Given the description of an element on the screen output the (x, y) to click on. 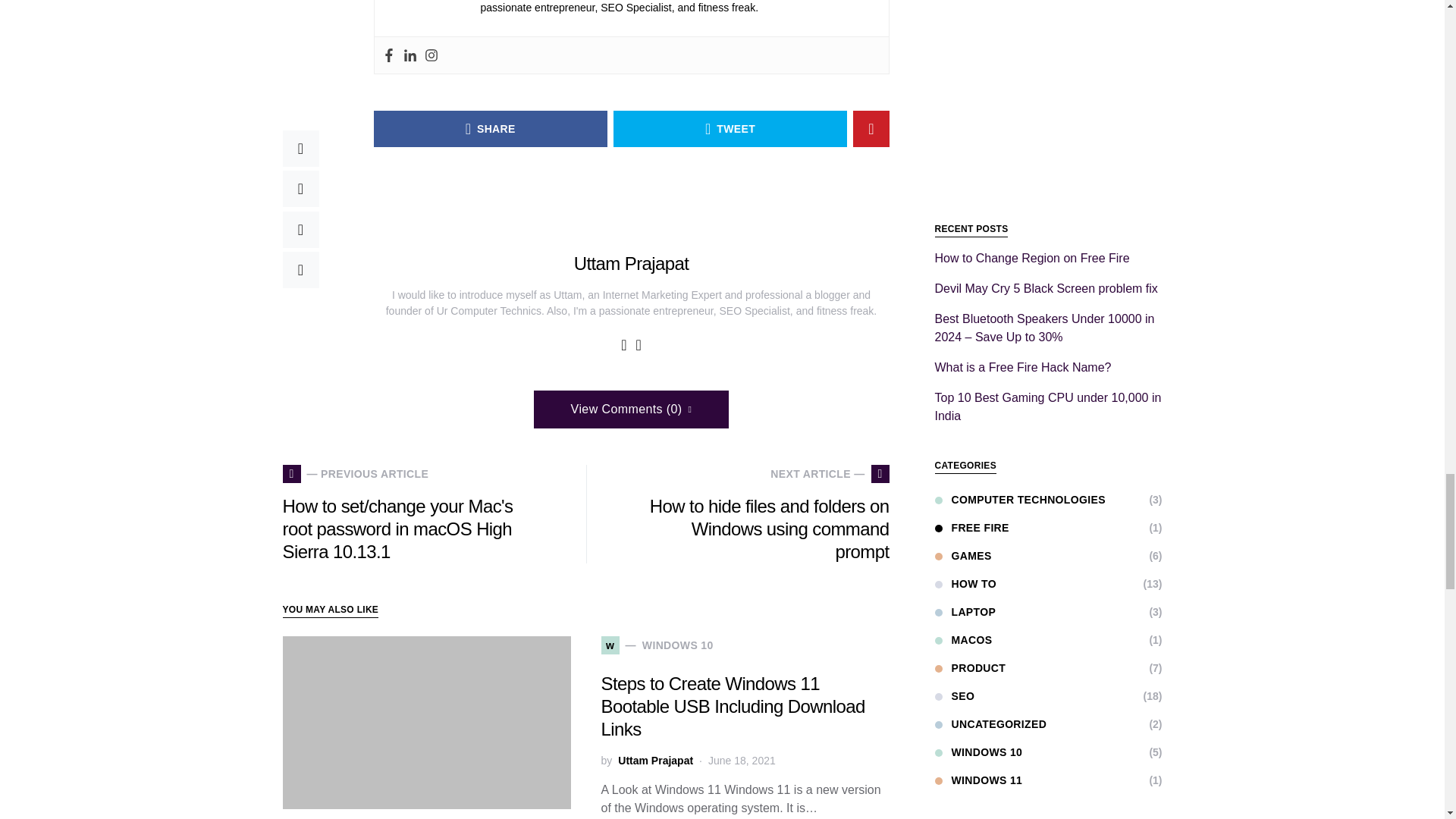
SHARE (489, 128)
View all posts by Uttam Prajapat (655, 760)
Instagram (431, 55)
TWEET (729, 128)
Uttam Prajapat (630, 263)
Linkedin (409, 55)
Facebook (388, 55)
